Given the description of an element on the screen output the (x, y) to click on. 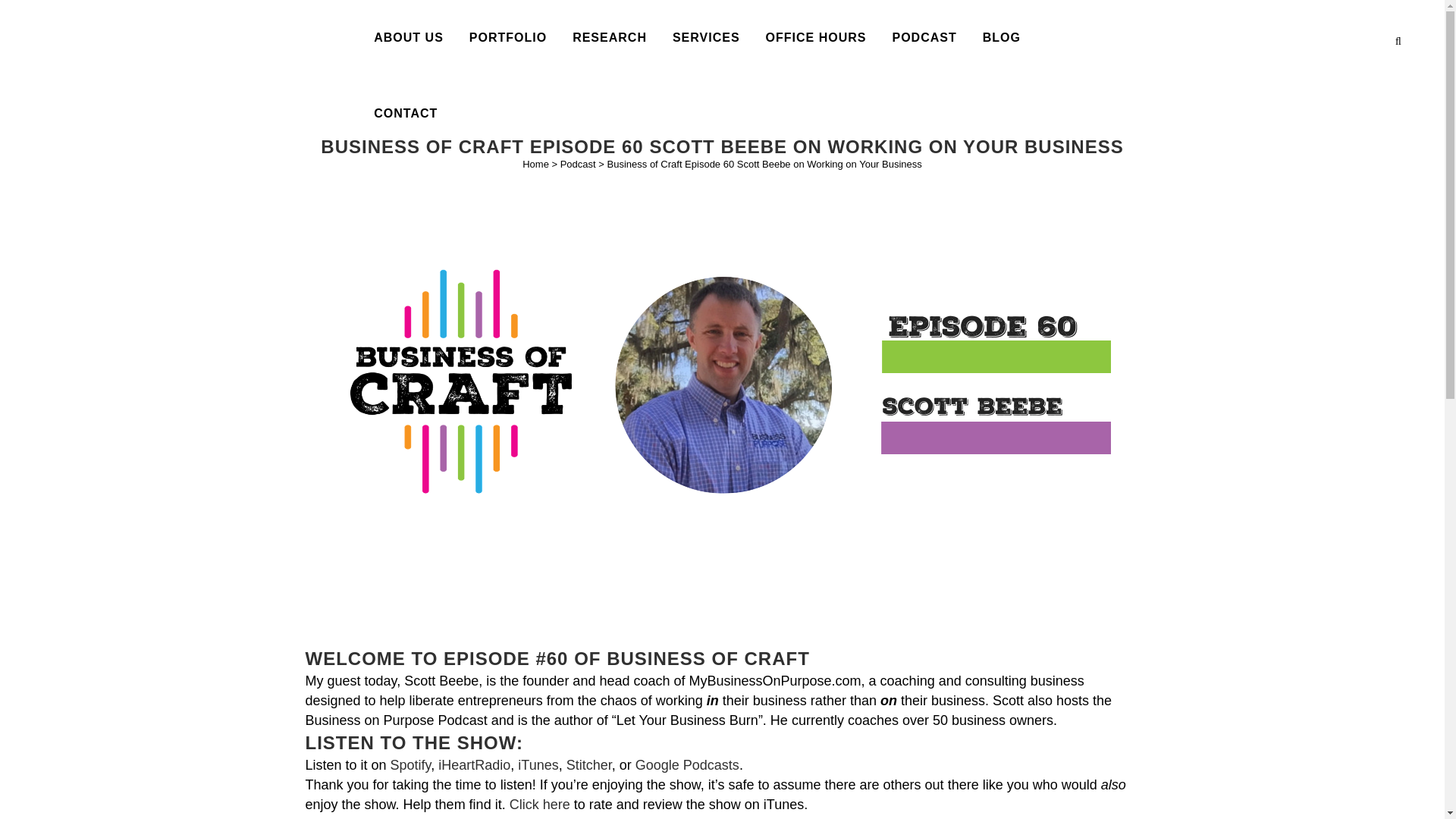
iTunes (537, 765)
RESEARCH (609, 38)
SERVICES (705, 38)
CONTACT (405, 113)
iHeartRadio (474, 765)
PORTFOLIO (508, 38)
Spotify (410, 765)
Stitcher (588, 765)
Podcast (577, 163)
Google Podcasts (686, 765)
